Given the description of an element on the screen output the (x, y) to click on. 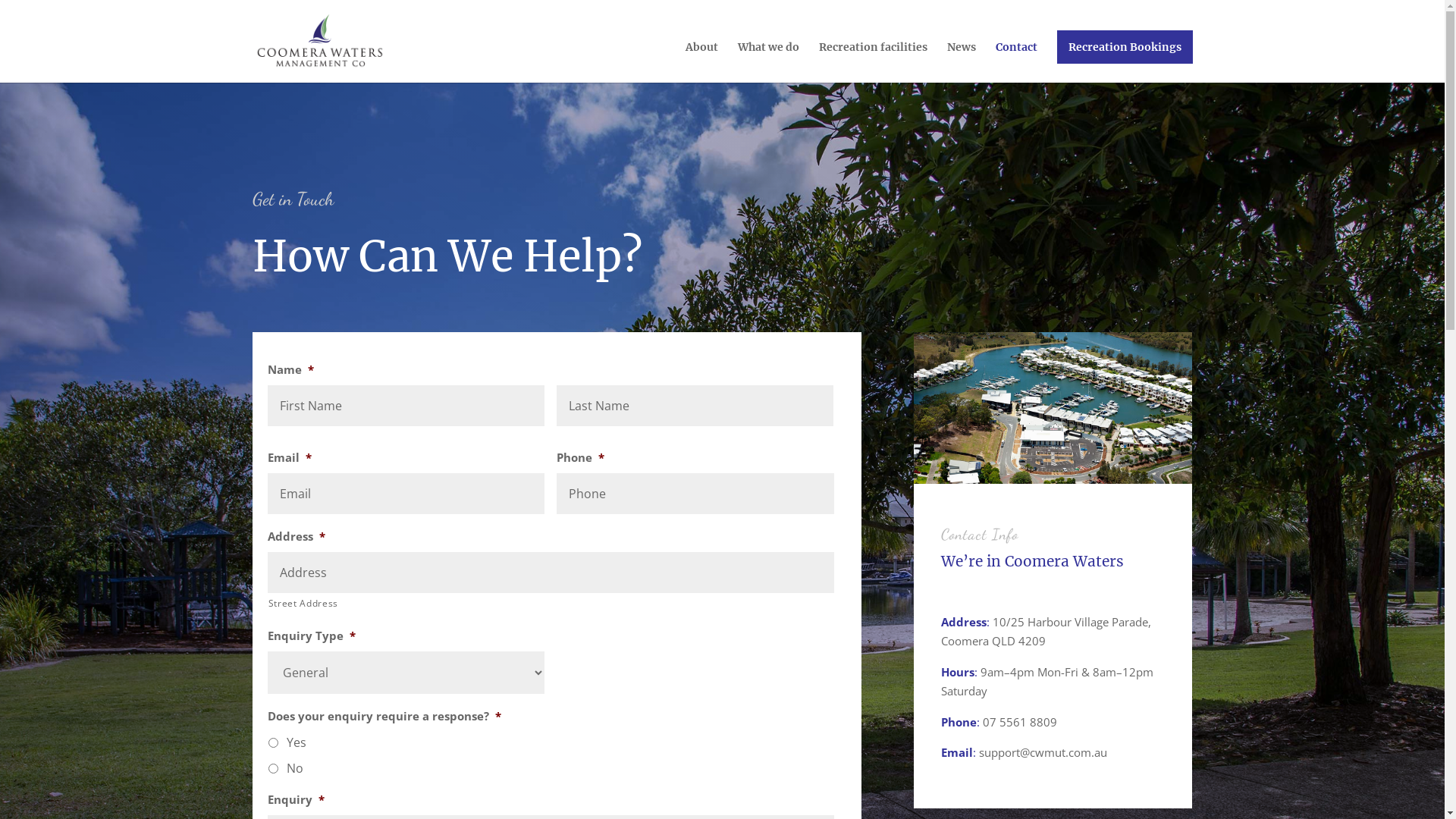
Contact Element type: text (1015, 61)
Recreation facilities Element type: text (873, 61)
Recreation Bookings Element type: text (1124, 46)
What we do Element type: text (767, 61)
About Element type: text (701, 61)
News Element type: text (960, 61)
